Given the description of an element on the screen output the (x, y) to click on. 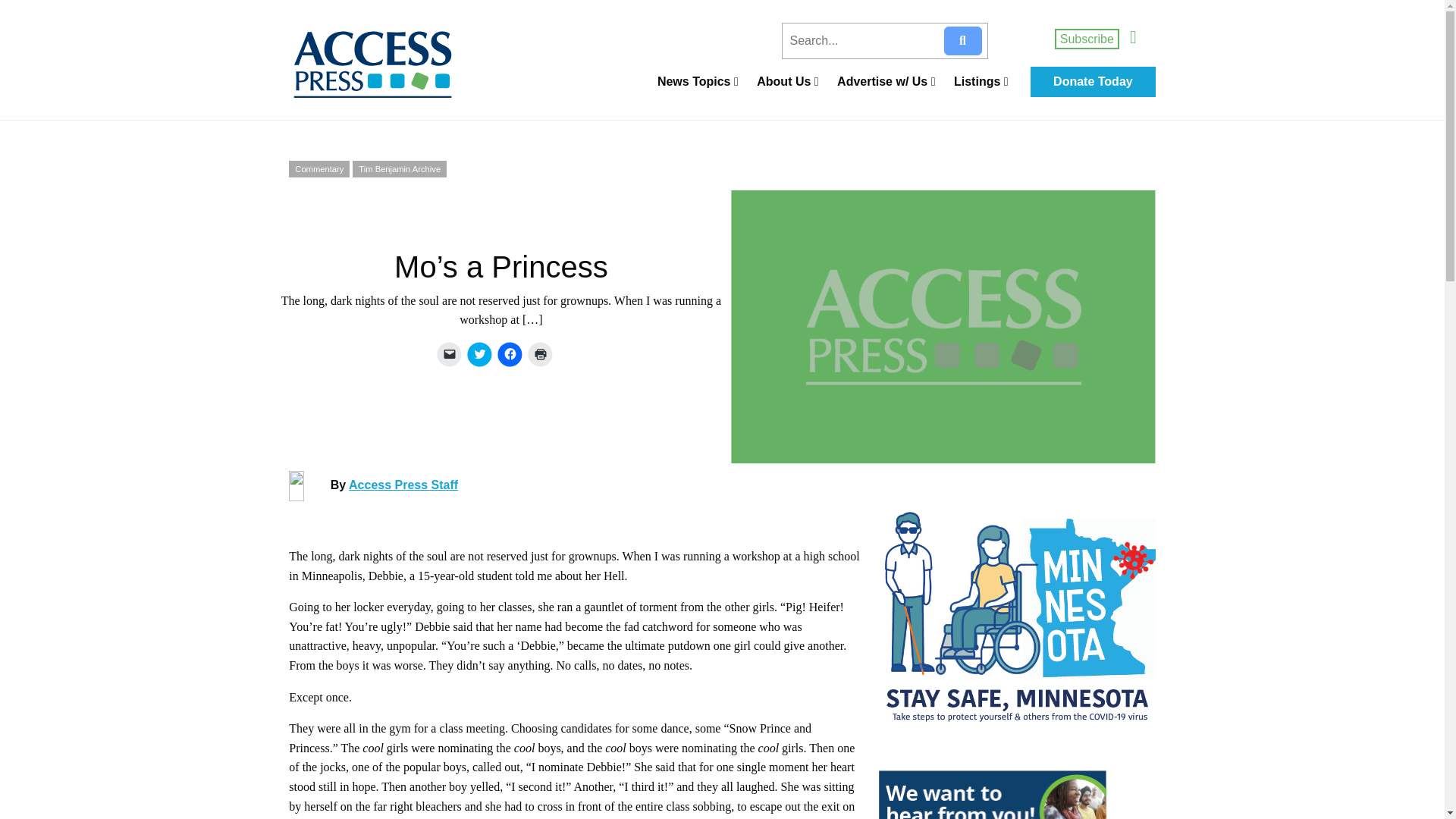
Access Press (390, 64)
Click to email a link to a friend (449, 354)
Subscribe (1086, 38)
Access Press home page (390, 64)
Click to share on Facebook (509, 354)
About Us (787, 81)
Click to print (540, 354)
Click to share on Twitter (479, 354)
News Topics (697, 81)
